Given the description of an element on the screen output the (x, y) to click on. 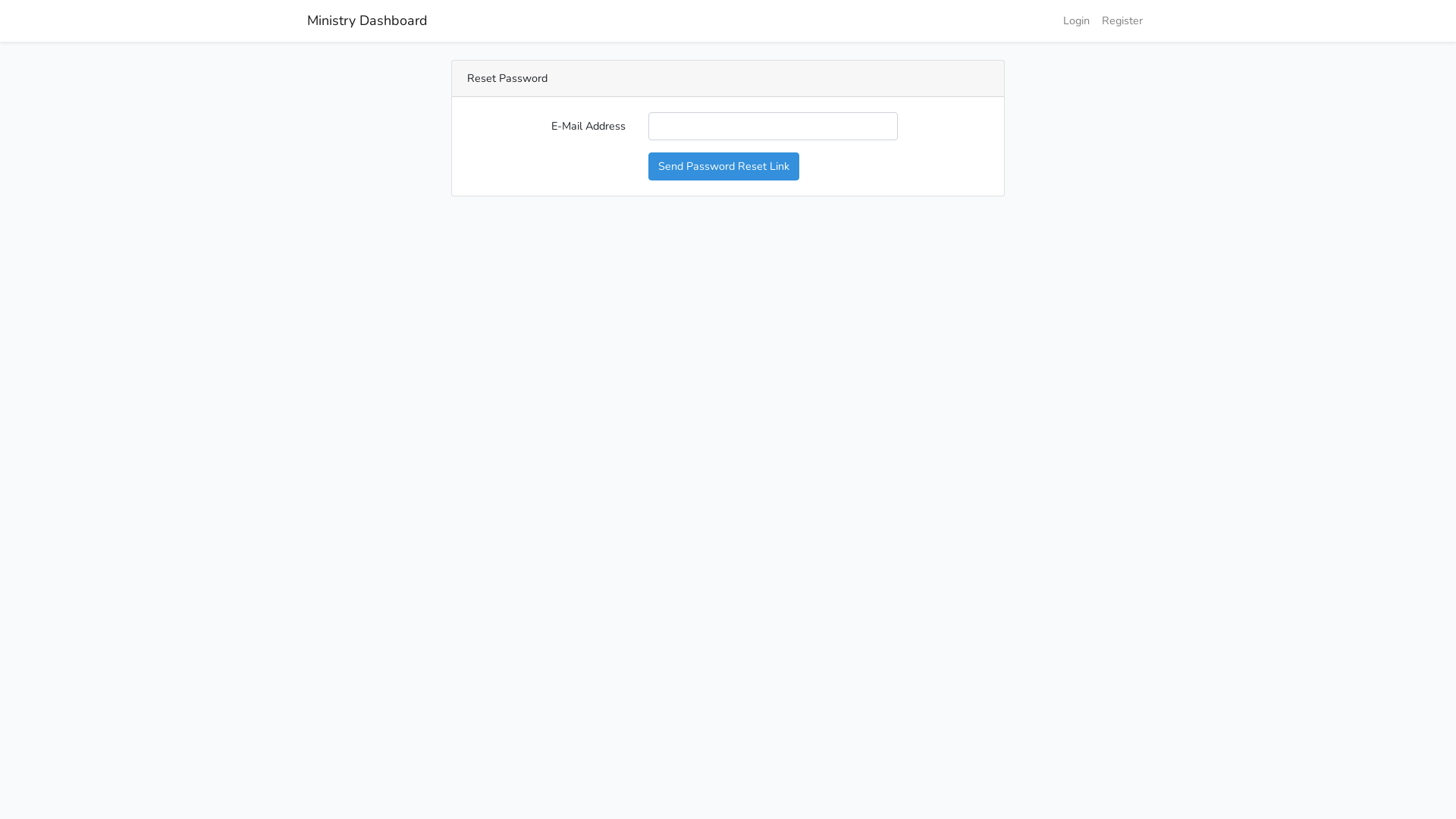
Ministry Dashboard Element type: text (367, 20)
Login Element type: text (1076, 20)
Send Password Reset Link Element type: text (723, 166)
Register Element type: text (1121, 20)
